Given the description of an element on the screen output the (x, y) to click on. 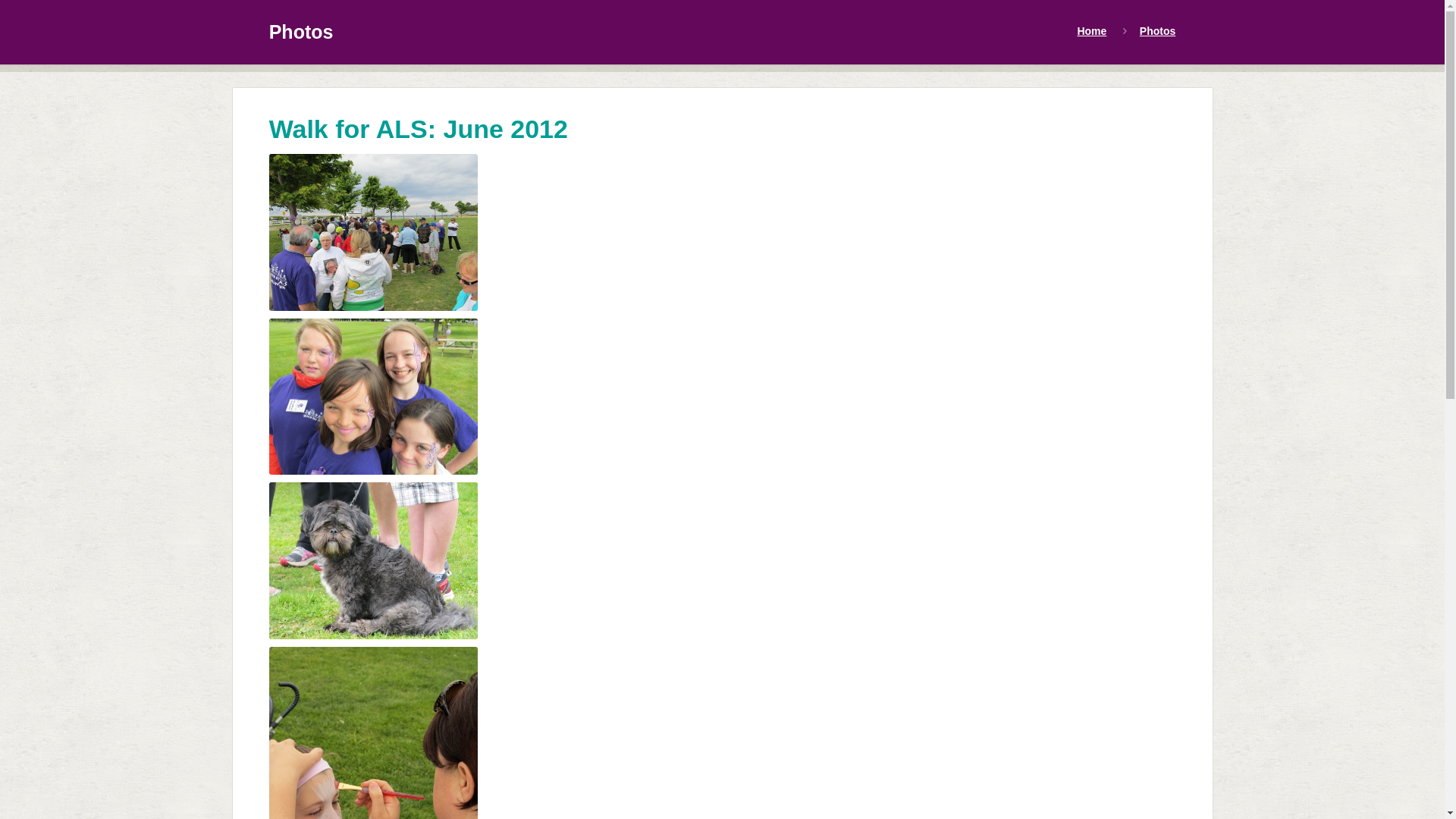
Photos Element type: text (1157, 31)
als2 Element type: hover (373, 396)
als1 Element type: hover (373, 231)
Home Element type: text (1091, 31)
als3 Element type: hover (373, 560)
